Given the description of an element on the screen output the (x, y) to click on. 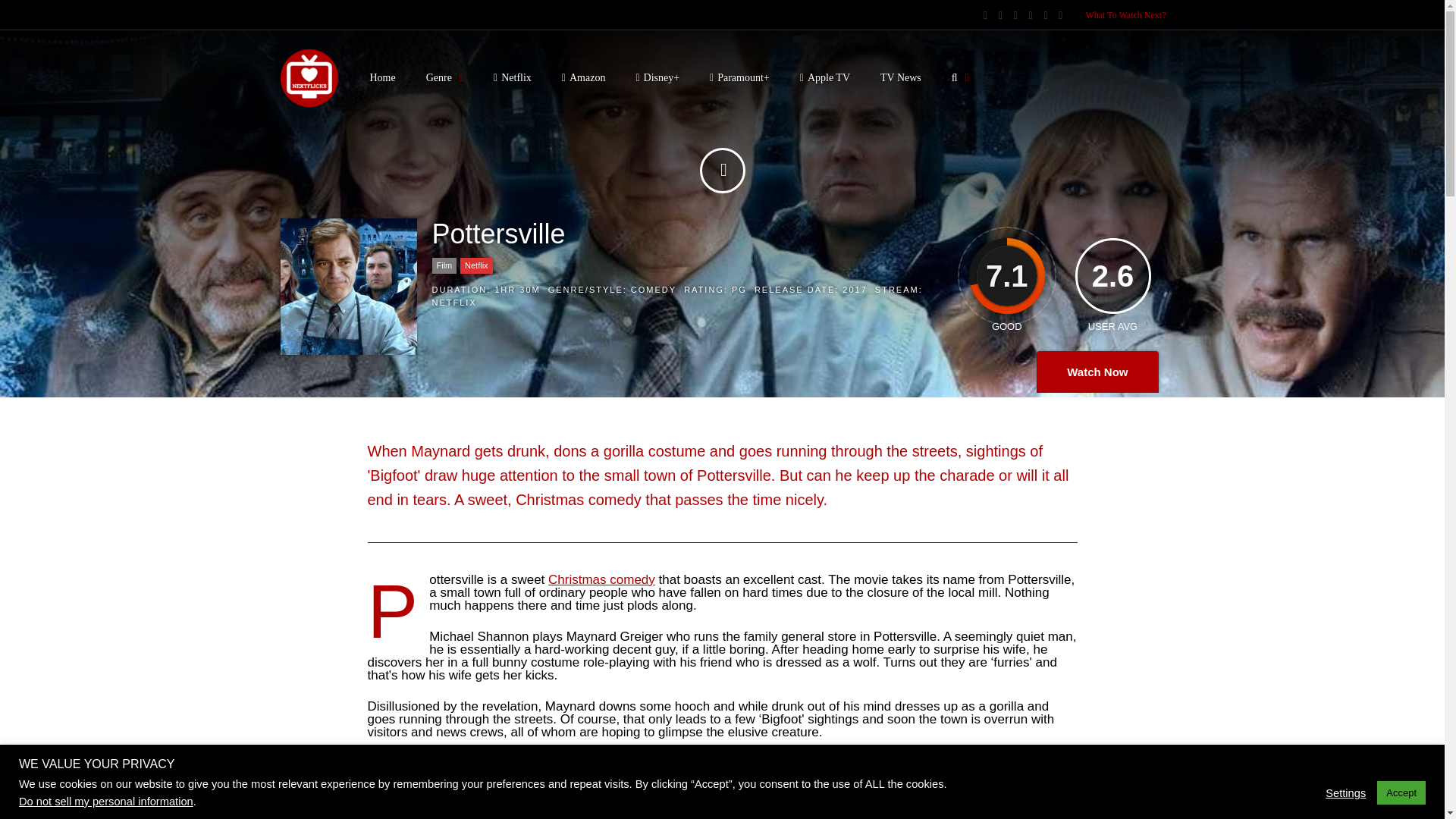
RSS Feed (985, 15)
What To Watch Next? (1125, 15)
Pinterest (1044, 15)
NextFlicks (309, 104)
Michael Shannon Photobombs His Own Selfies (721, 794)
Home (382, 77)
Genre (444, 77)
YouTube (1030, 15)
Facebook (1015, 15)
Twitter (1000, 15)
